Given the description of an element on the screen output the (x, y) to click on. 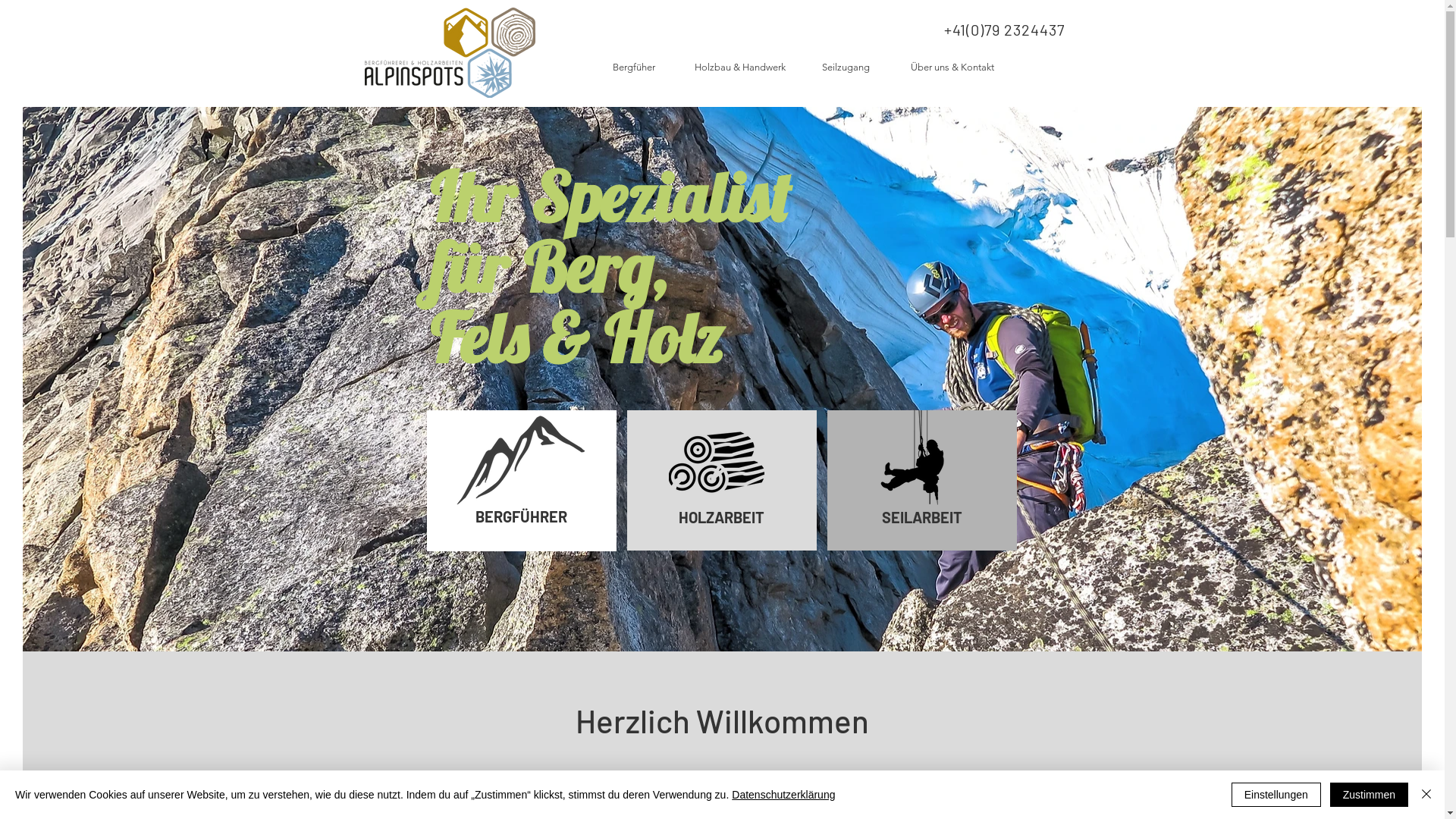
Einstellungen Element type: text (1276, 794)
SEILARBEIT Element type: text (921, 517)
HOLZARBEIT Element type: text (721, 517)
Seilzugang Element type: text (846, 67)
Holzbau & Handwerk Element type: text (740, 67)
Zustimmen Element type: text (1369, 794)
+41(0)79 2324437  Element type: text (1005, 30)
